Given the description of an element on the screen output the (x, y) to click on. 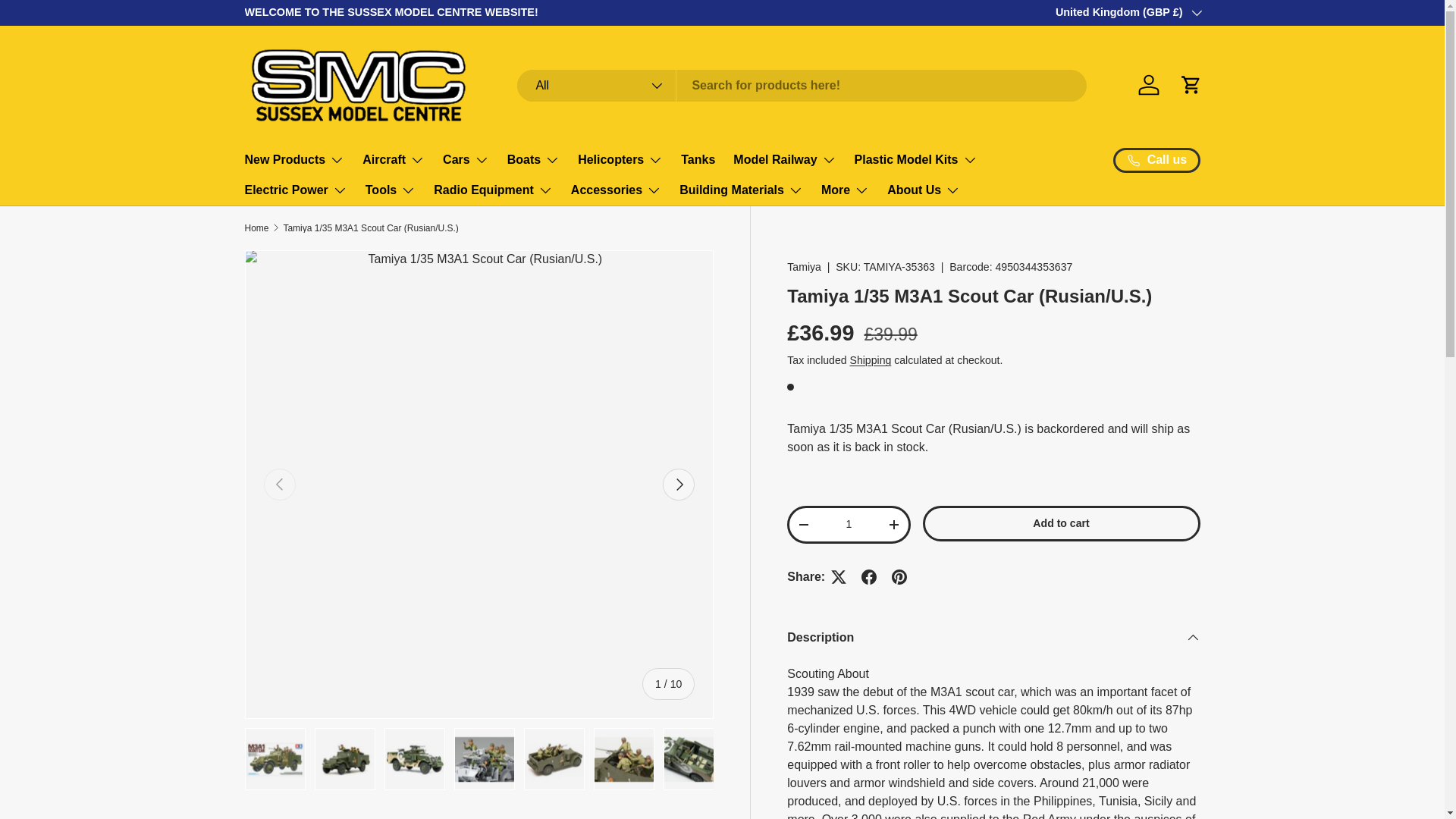
Cars (465, 159)
Skip to content (69, 22)
Tweet on X (838, 576)
New Products (293, 159)
All (596, 85)
Share on Facebook (868, 576)
Cart (1190, 84)
Pin on Pinterest (898, 576)
Aircraft (393, 159)
1 (848, 523)
Log in (1147, 84)
